Given the description of an element on the screen output the (x, y) to click on. 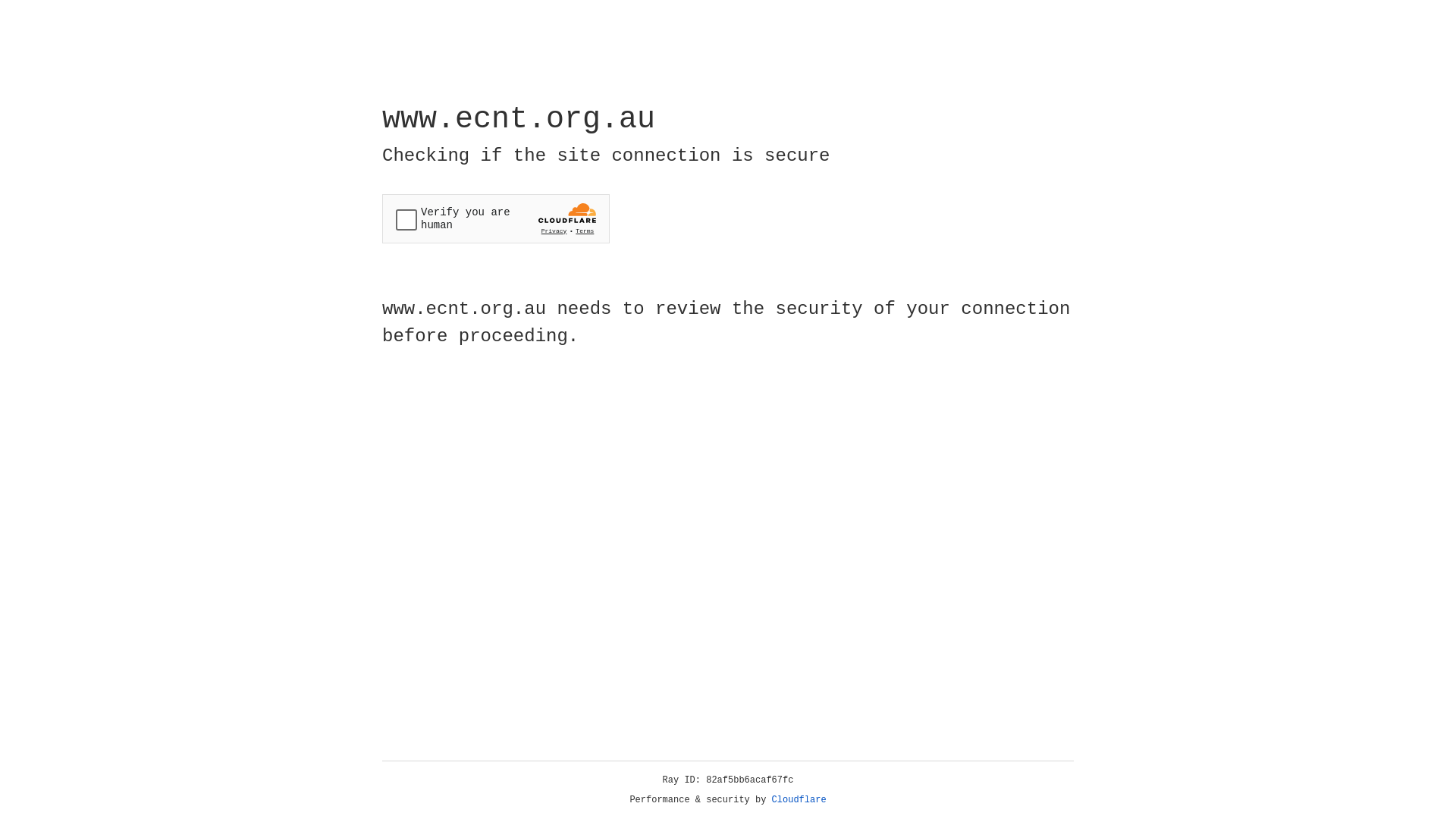
Cloudflare Element type: text (798, 799)
Widget containing a Cloudflare security challenge Element type: hover (495, 218)
